Given the description of an element on the screen output the (x, y) to click on. 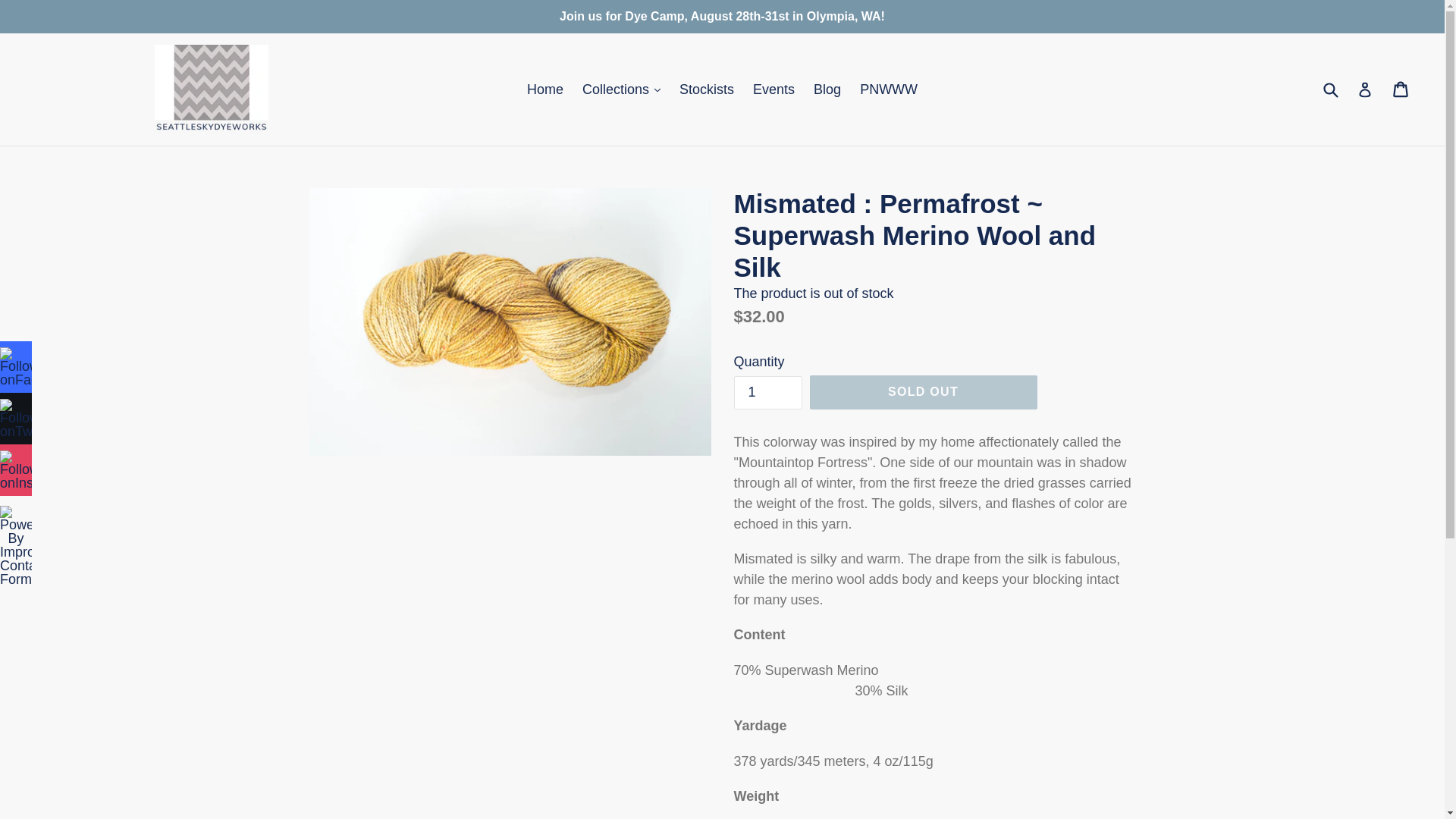
1 (767, 392)
